Given the description of an element on the screen output the (x, y) to click on. 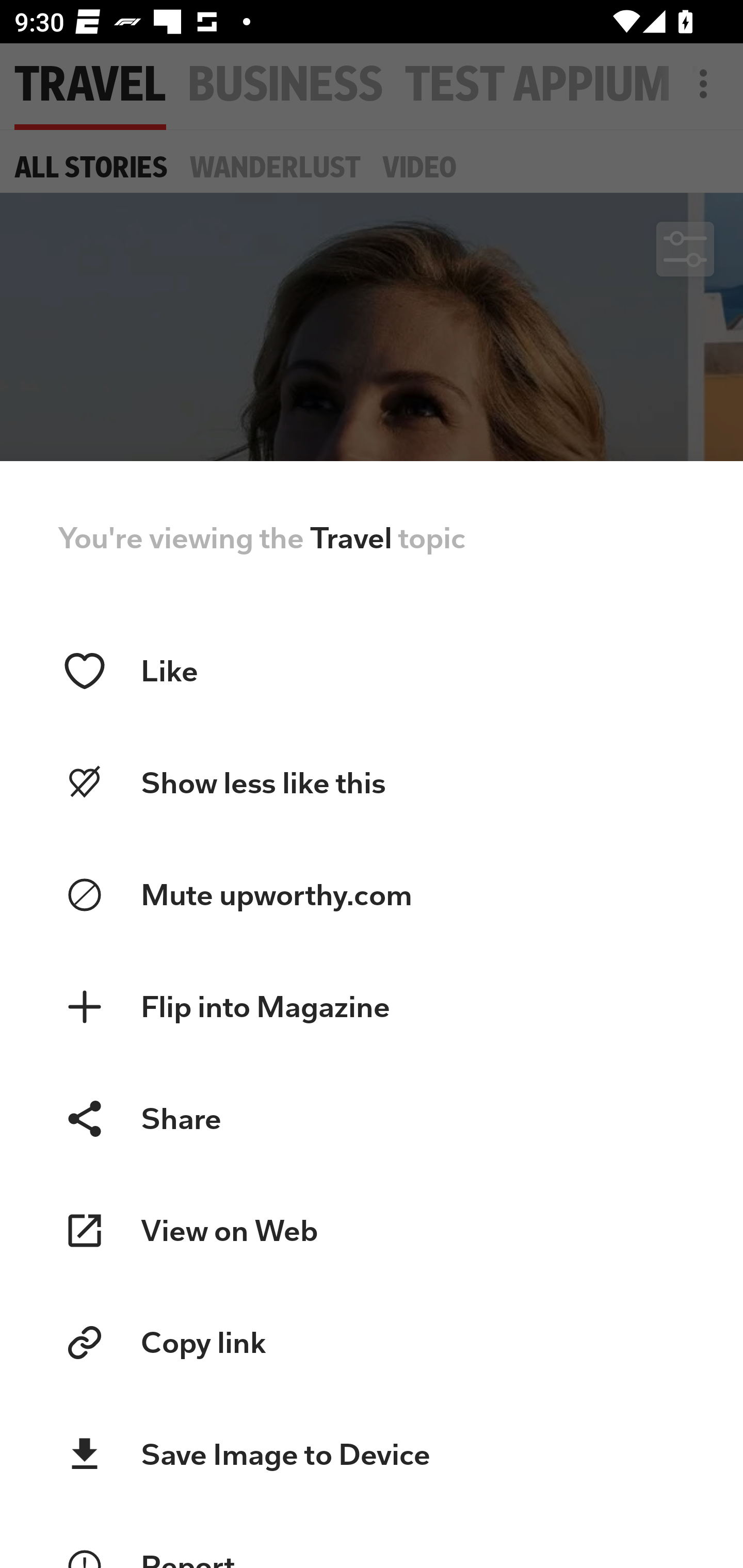
Like (371, 670)
Show less like this (371, 782)
Mute upworthy.com (371, 894)
Flip into Magazine (371, 1007)
Share (371, 1118)
View on Web (371, 1230)
Copy link (371, 1342)
Save Image to Device (371, 1453)
